Given the description of an element on the screen output the (x, y) to click on. 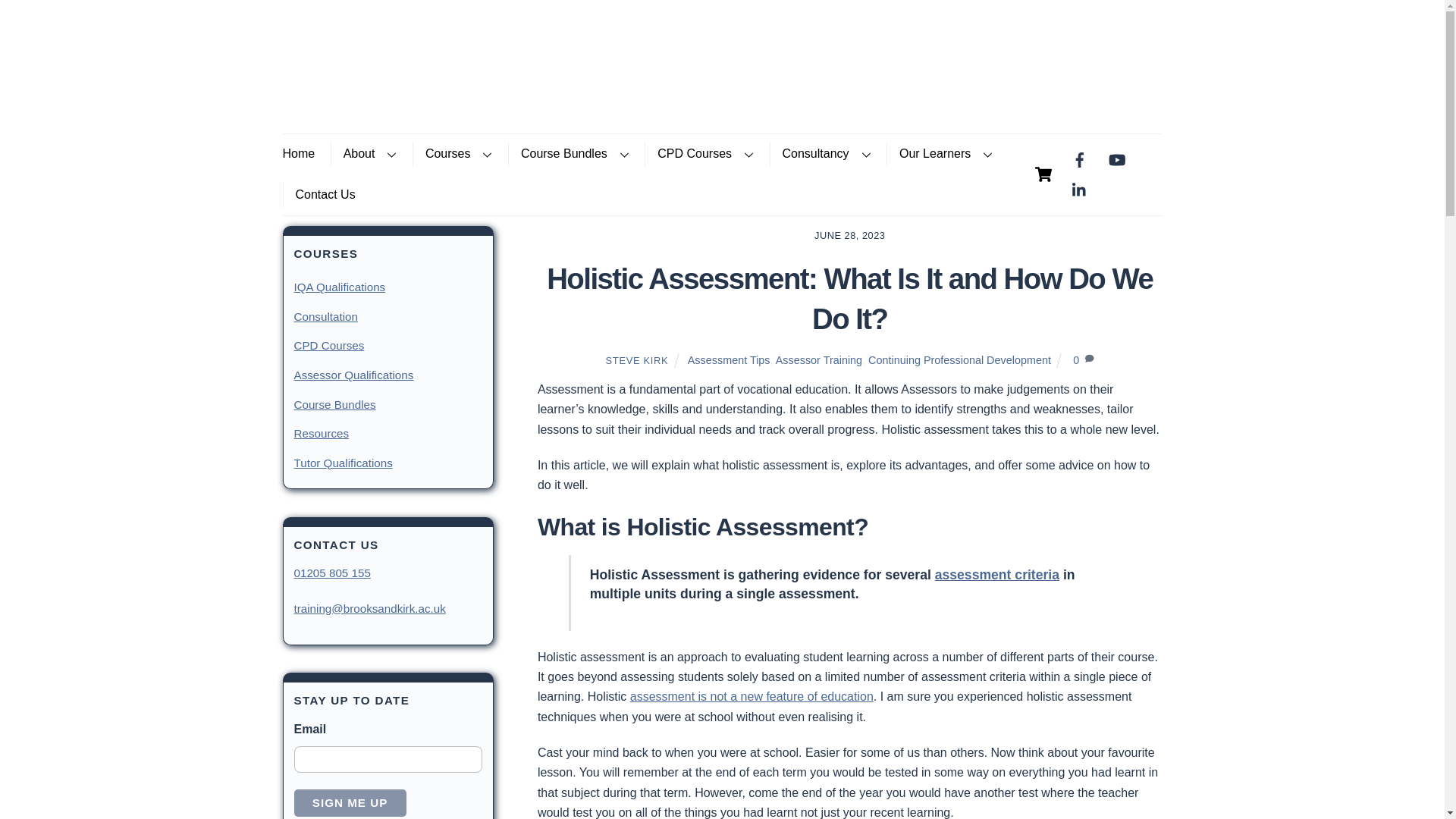
Home (304, 154)
Brooks and Kirk (327, 101)
CPD Courses (705, 154)
Courses (458, 154)
Course Bundles (575, 154)
Cart (1042, 173)
About (369, 154)
SIGN ME UP (350, 803)
